Given the description of an element on the screen output the (x, y) to click on. 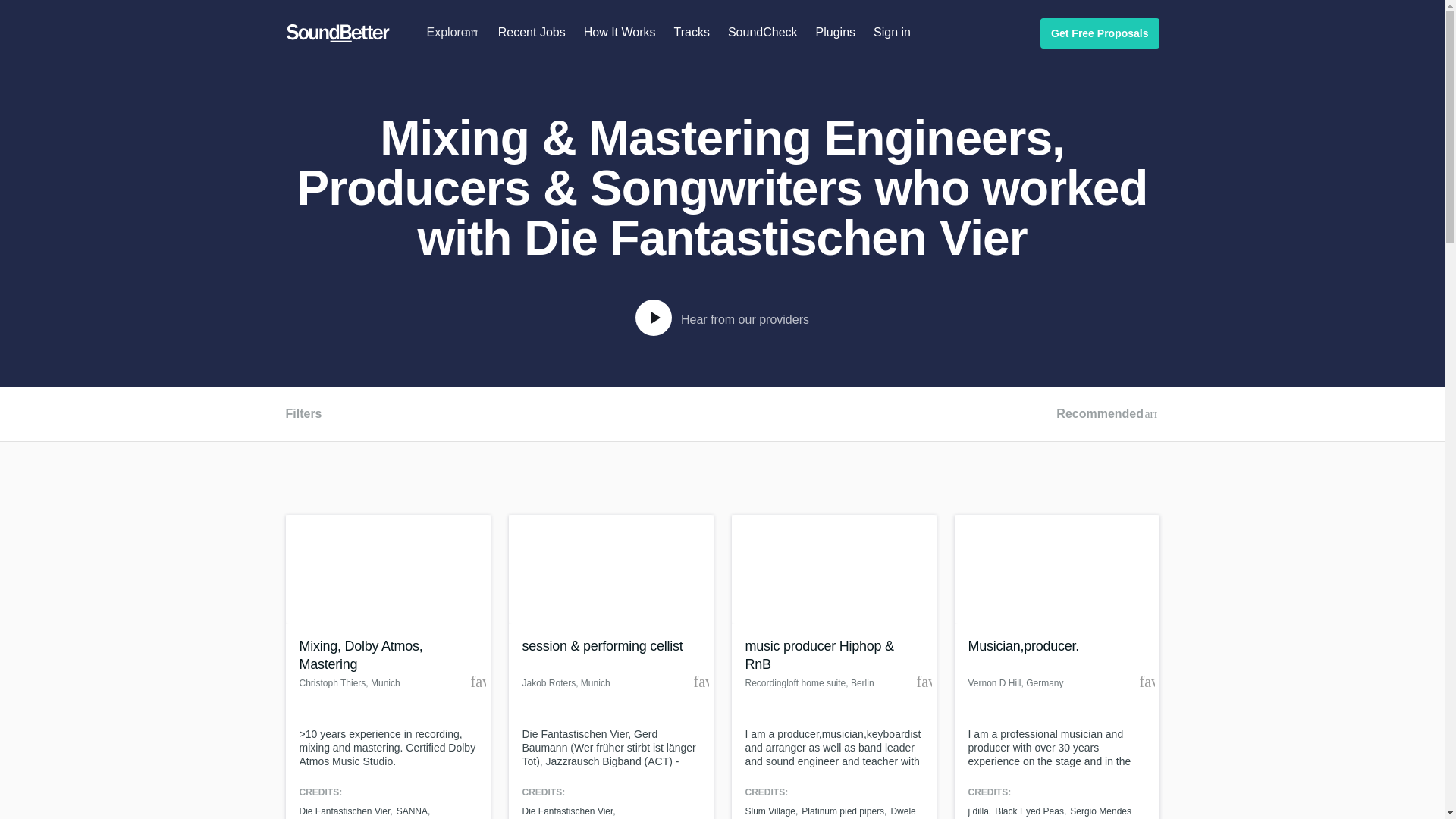
SoundBetter (337, 33)
Add to favorites (1146, 681)
Add to favorites (923, 681)
Add to favorites (700, 681)
Add to favorites (477, 681)
